Given the description of an element on the screen output the (x, y) to click on. 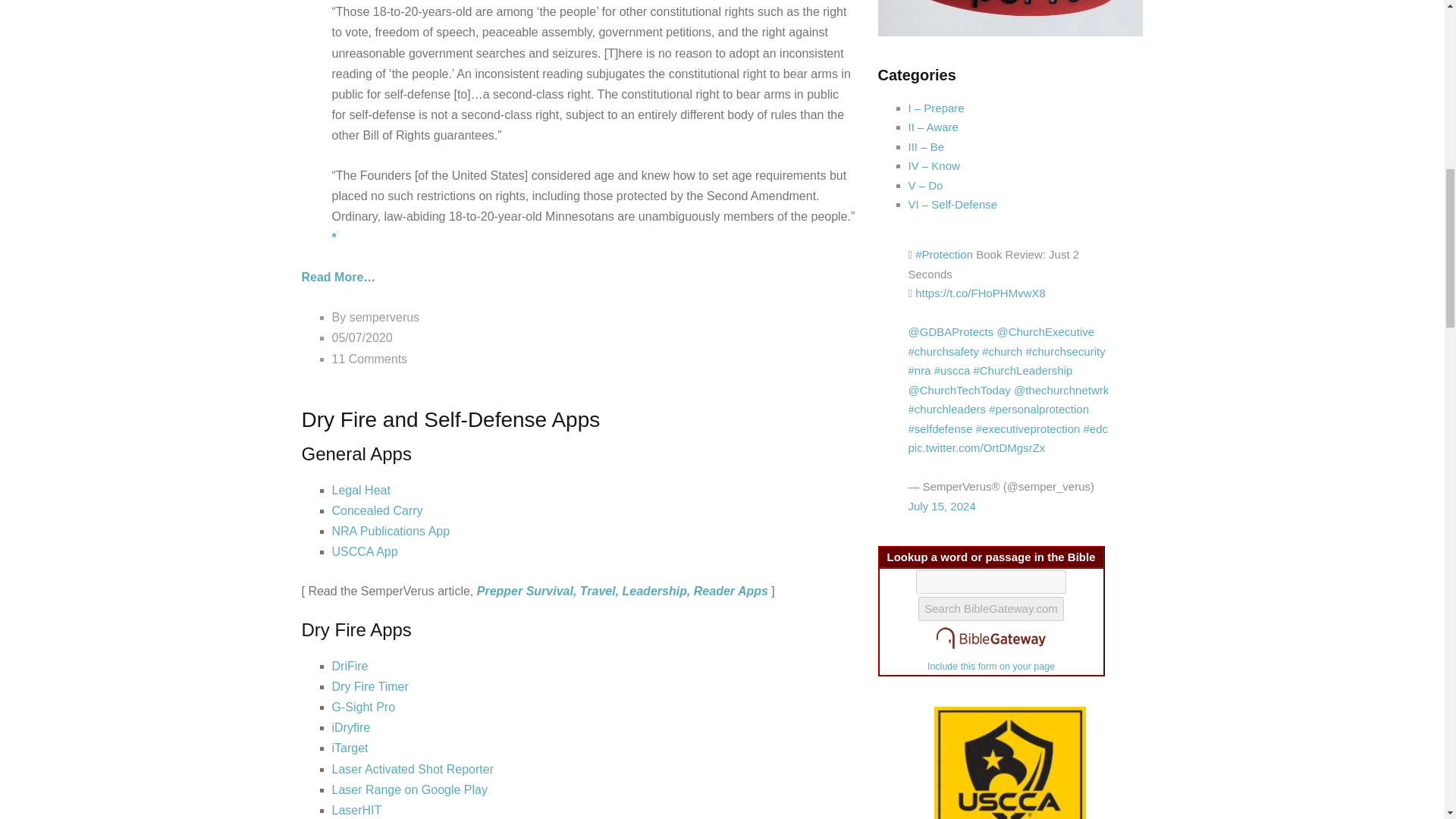
Concealed Carry (377, 510)
Visit Concealed Carry (377, 510)
Laser Activated Shot Reporter (412, 768)
Legal Heat (360, 490)
G-Sight Pro (363, 707)
LaserHIT (356, 809)
Laser Range on Google Play (409, 789)
Prepper Survival, Travel, Leadership, Reader Apps (622, 590)
NRA Publications App (390, 530)
Visit Legal Heat (360, 490)
